Given the description of an element on the screen output the (x, y) to click on. 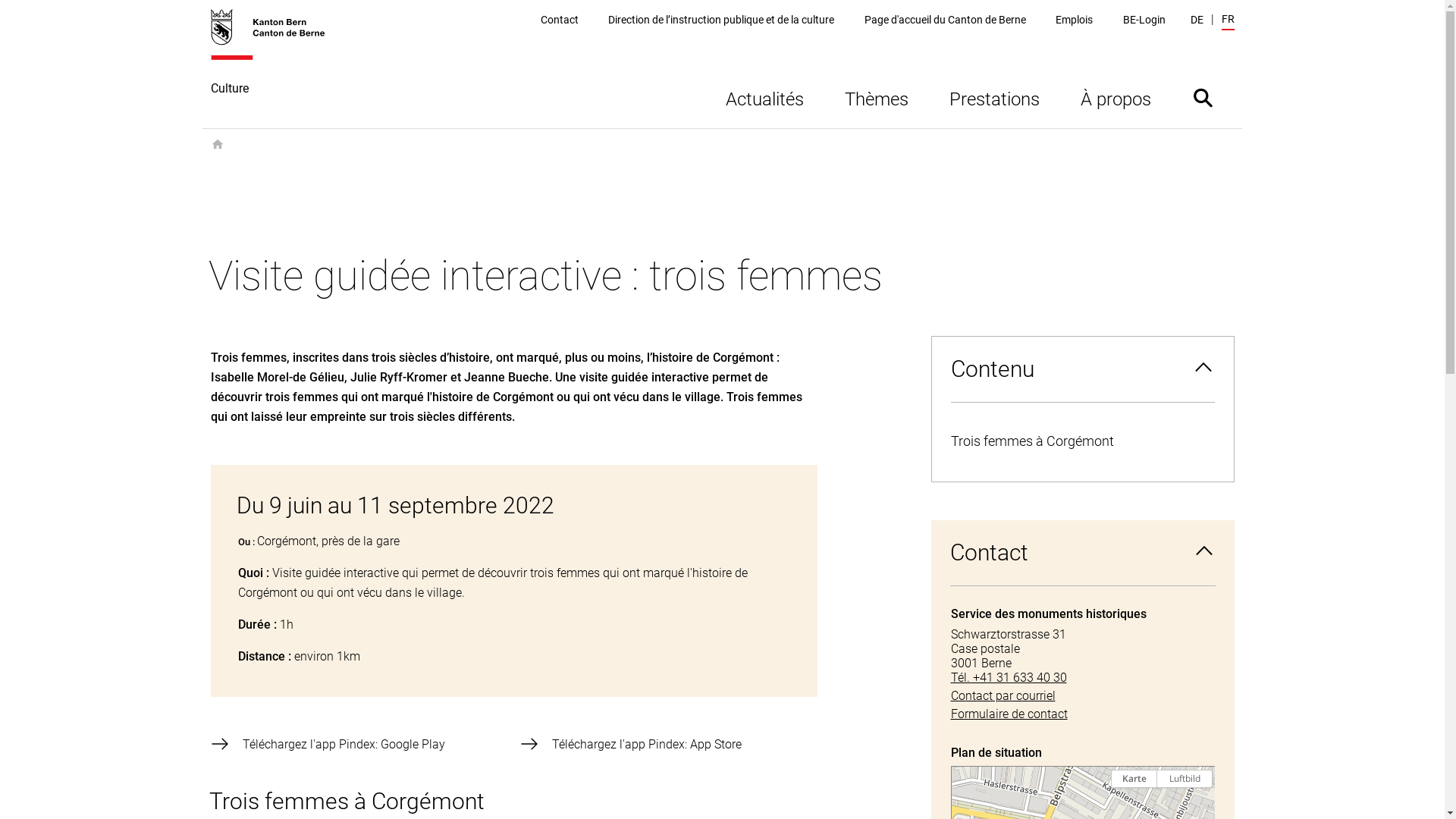
Contact Element type: text (1082, 552)
DE Element type: text (1196, 19)
BE-Login Element type: text (1144, 19)
Page d'accueil Element type: text (217, 144)
Page d'accueil du Canton de Berne Element type: text (945, 19)
Contact par courriel Element type: text (1082, 695)
Afficher/masquer la barre de recherche Element type: text (1201, 96)
Culture Element type: text (275, 68)
Prestations Element type: text (993, 96)
Formulaire de contact Element type: text (1082, 713)
Contact Element type: text (559, 19)
Emplois Element type: text (1073, 19)
Contenu Element type: text (1082, 368)
FR Element type: text (1226, 21)
